Given the description of an element on the screen output the (x, y) to click on. 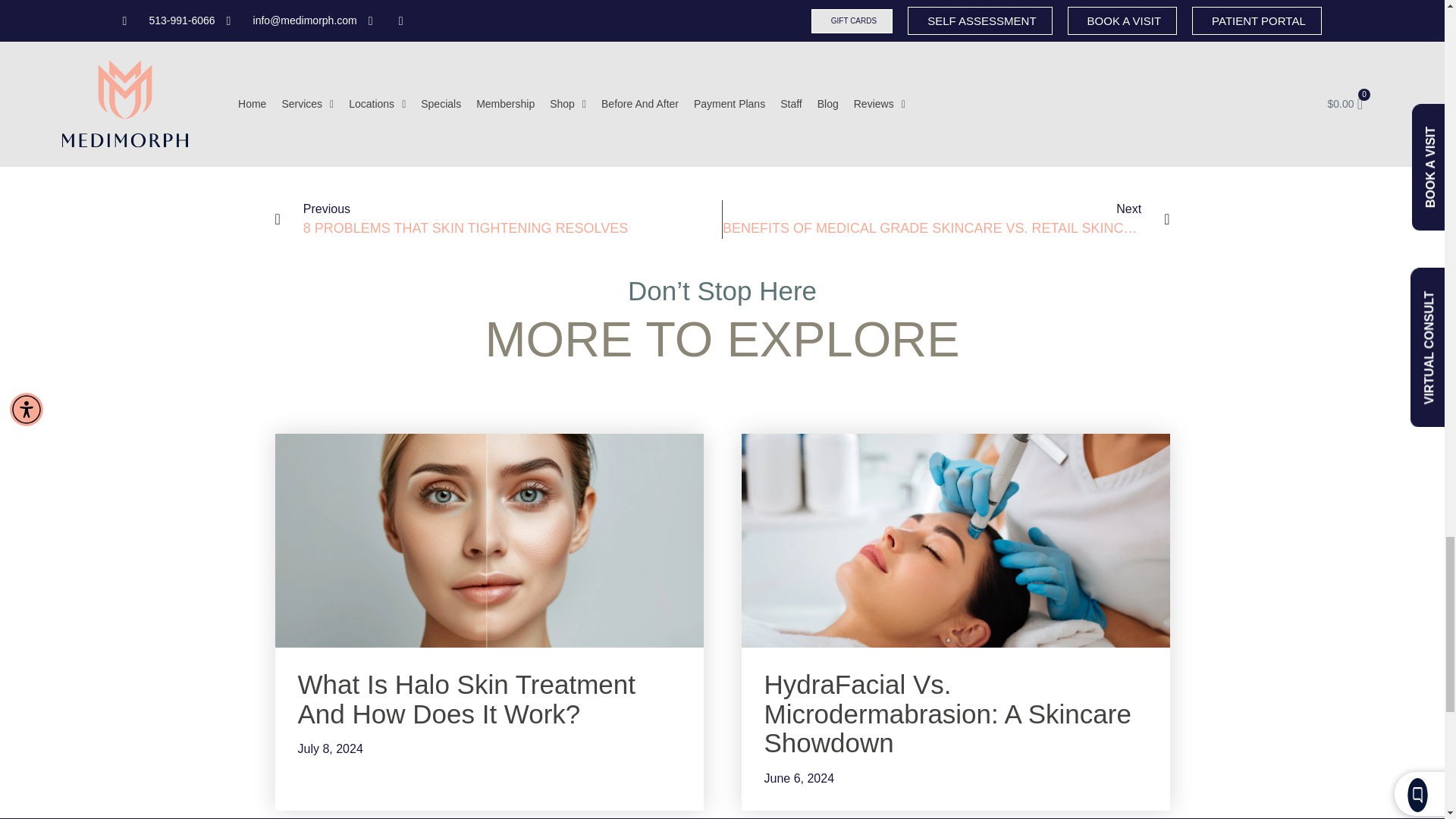
Facebook Share (347, 154)
What Are Neurotoxins Used For And Its Benefits 1 (293, 157)
Pin Share (450, 154)
Tweet (400, 155)
